Given the description of an element on the screen output the (x, y) to click on. 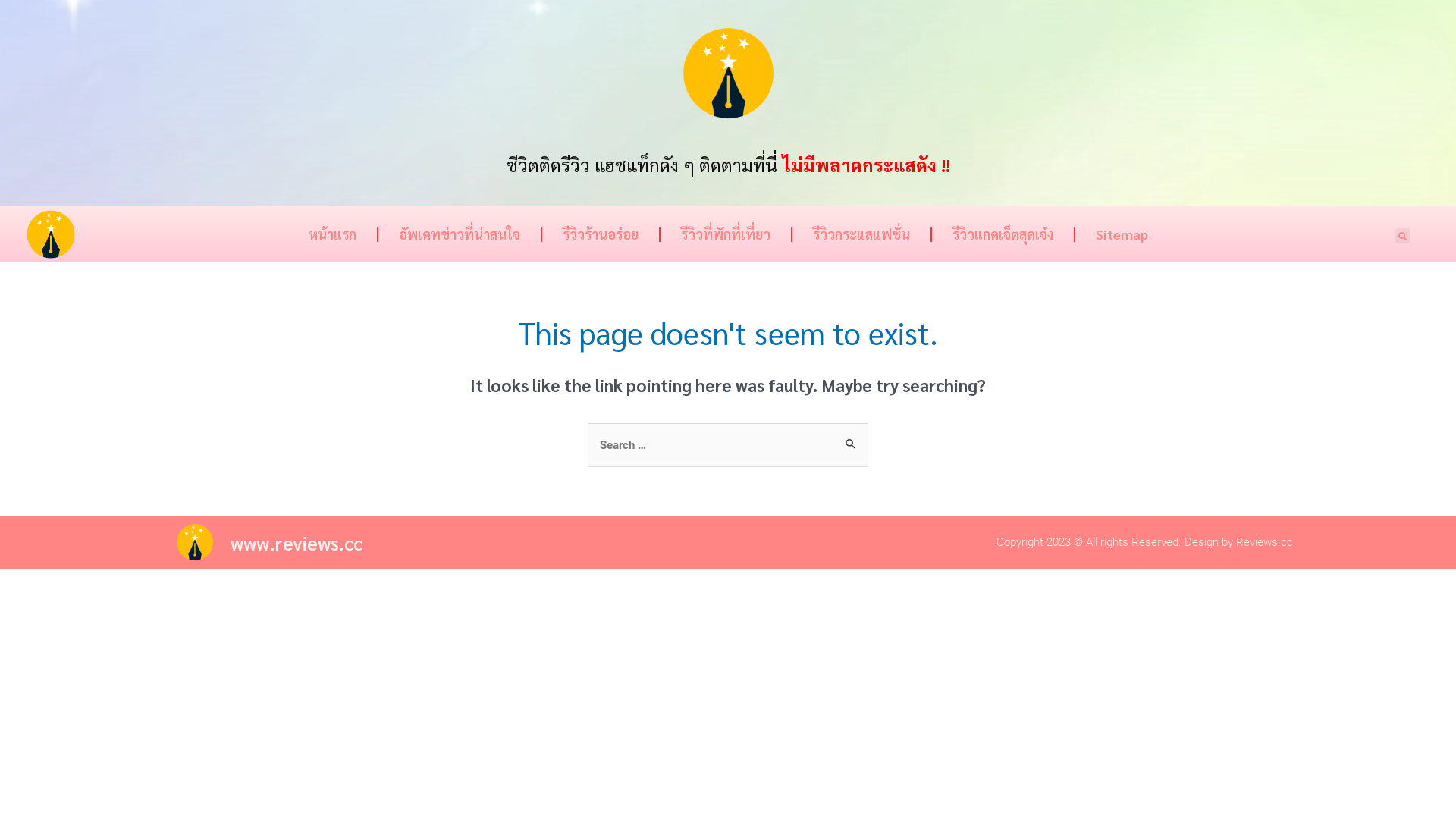
Search Element type: text (851, 438)
Sitemap Element type: text (1121, 233)
